Given the description of an element on the screen output the (x, y) to click on. 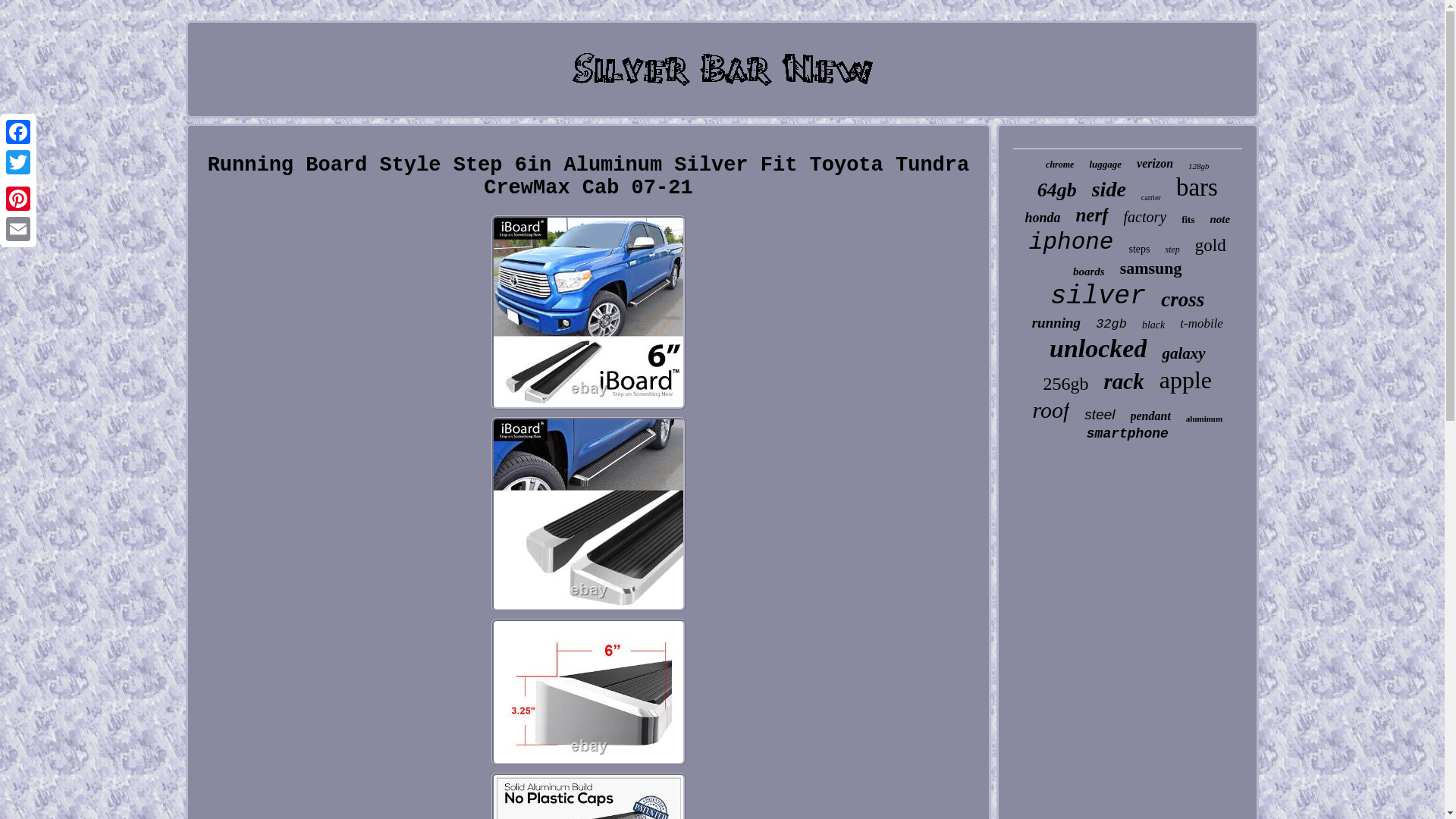
running (1056, 322)
step (1171, 249)
gold (1210, 245)
chrome (1059, 164)
cross (1182, 300)
note (1219, 219)
galaxy (1183, 353)
nerf (1091, 215)
Email (17, 228)
Twitter (17, 162)
iphone (1071, 242)
black (1152, 325)
t-mobile (1201, 323)
steps (1139, 249)
verizon (1155, 163)
